Given the description of an element on the screen output the (x, y) to click on. 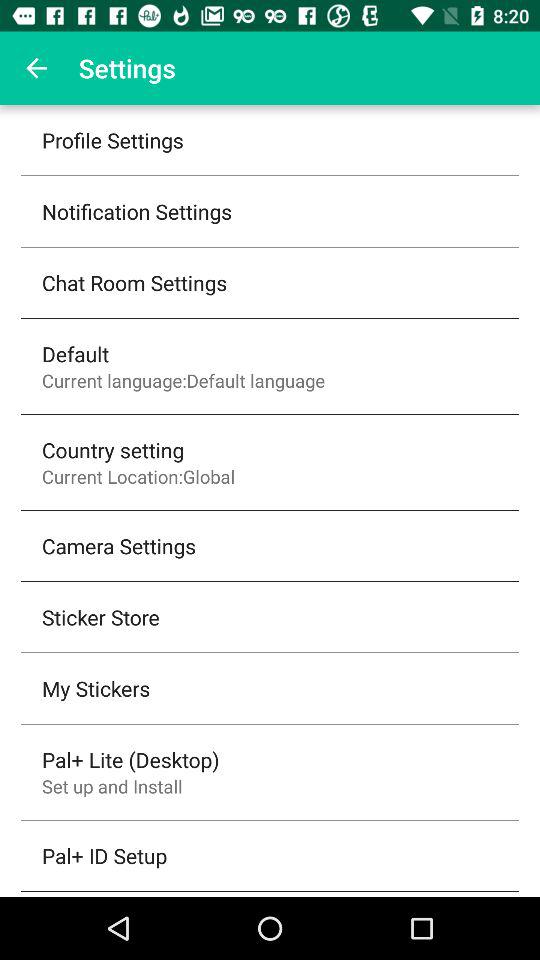
turn off sticker store (100, 617)
